Given the description of an element on the screen output the (x, y) to click on. 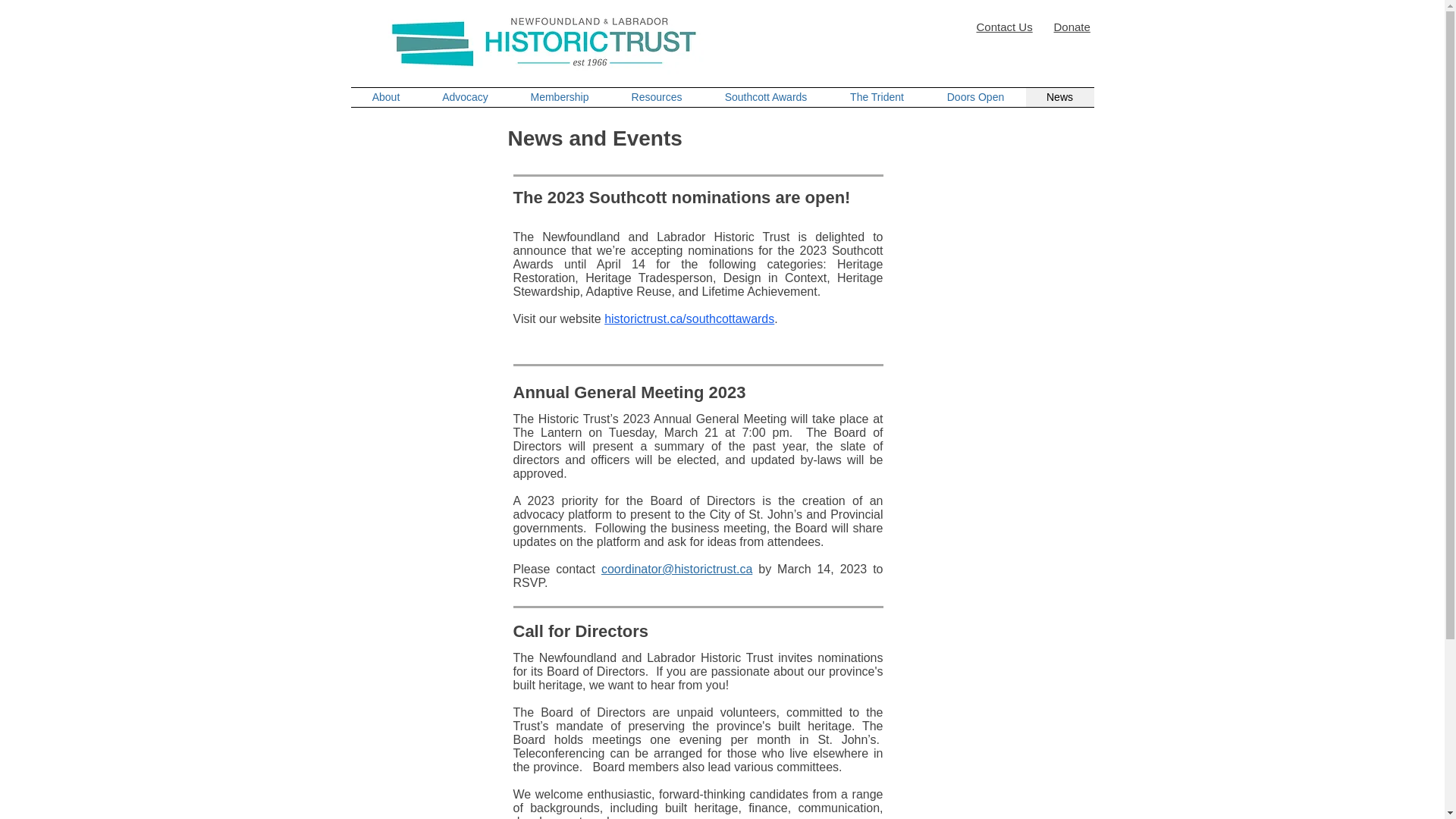
The Trident (876, 97)
Resources (656, 97)
News (1059, 97)
Advocacy (465, 97)
Donate (1072, 26)
Contact Us (1004, 26)
Doors Open (974, 97)
Membership (559, 97)
About (385, 97)
Southcott Awards (765, 97)
